Given the description of an element on the screen output the (x, y) to click on. 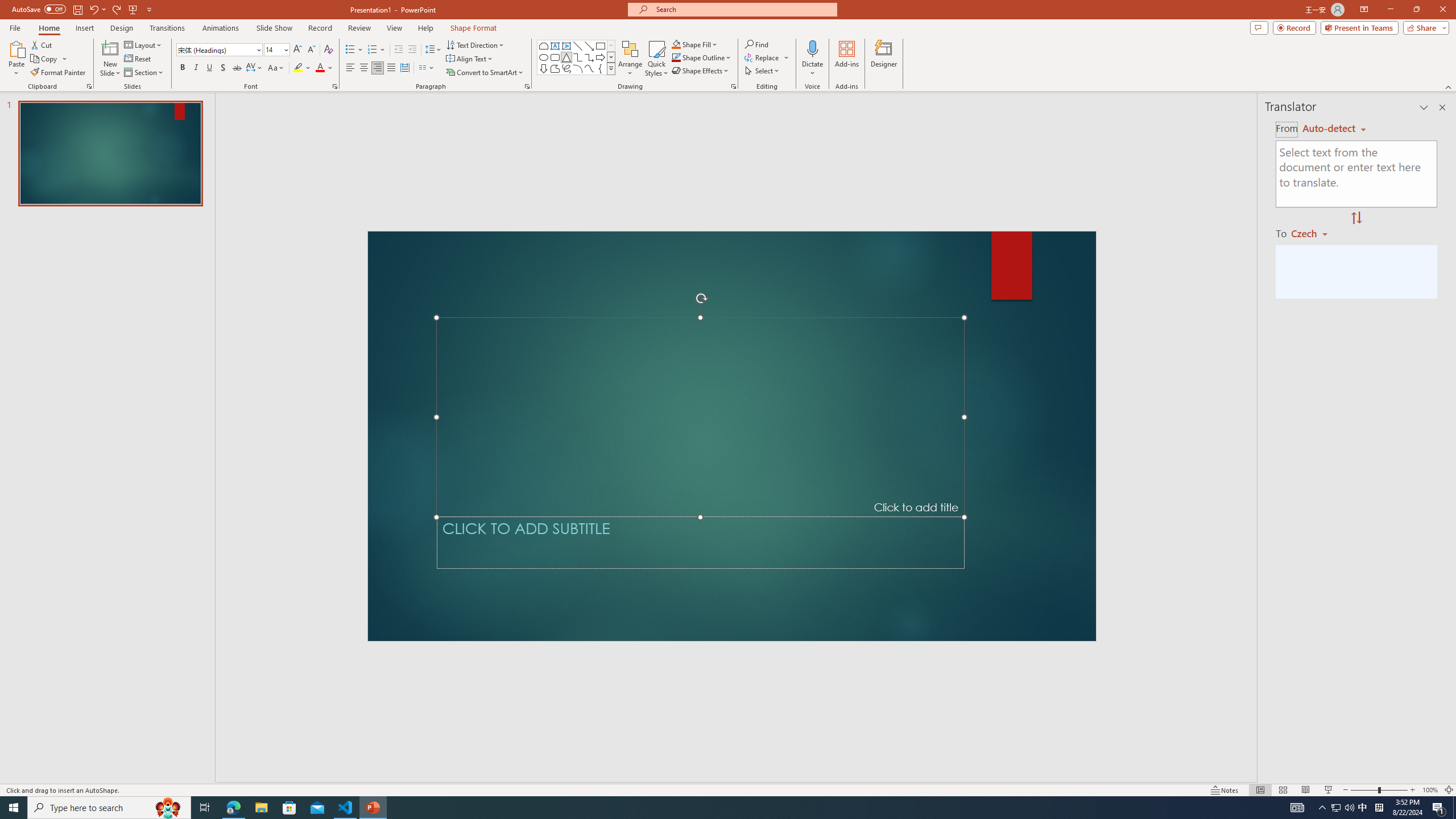
Rectangle: Top Corners Snipped (543, 45)
